Given the description of an element on the screen output the (x, y) to click on. 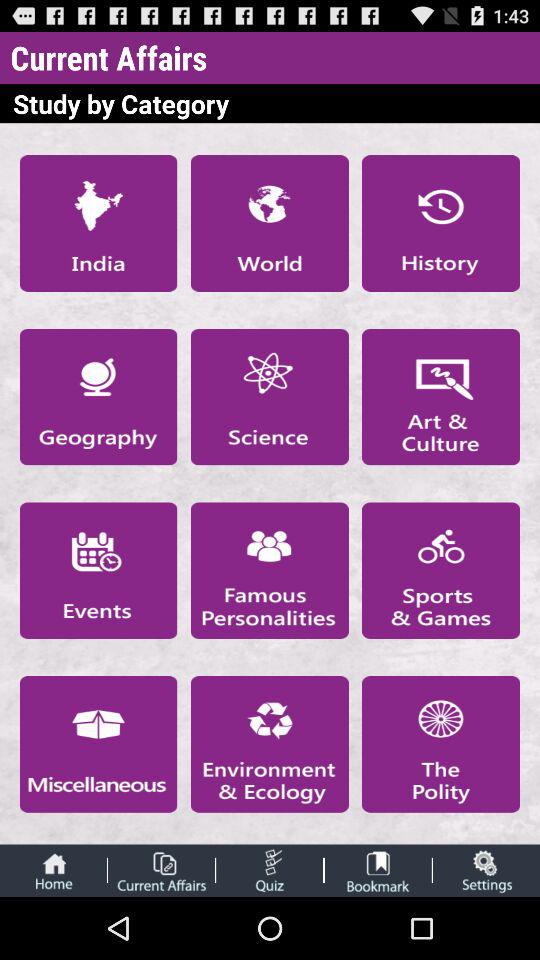
the polity section (441, 744)
